Given the description of an element on the screen output the (x, y) to click on. 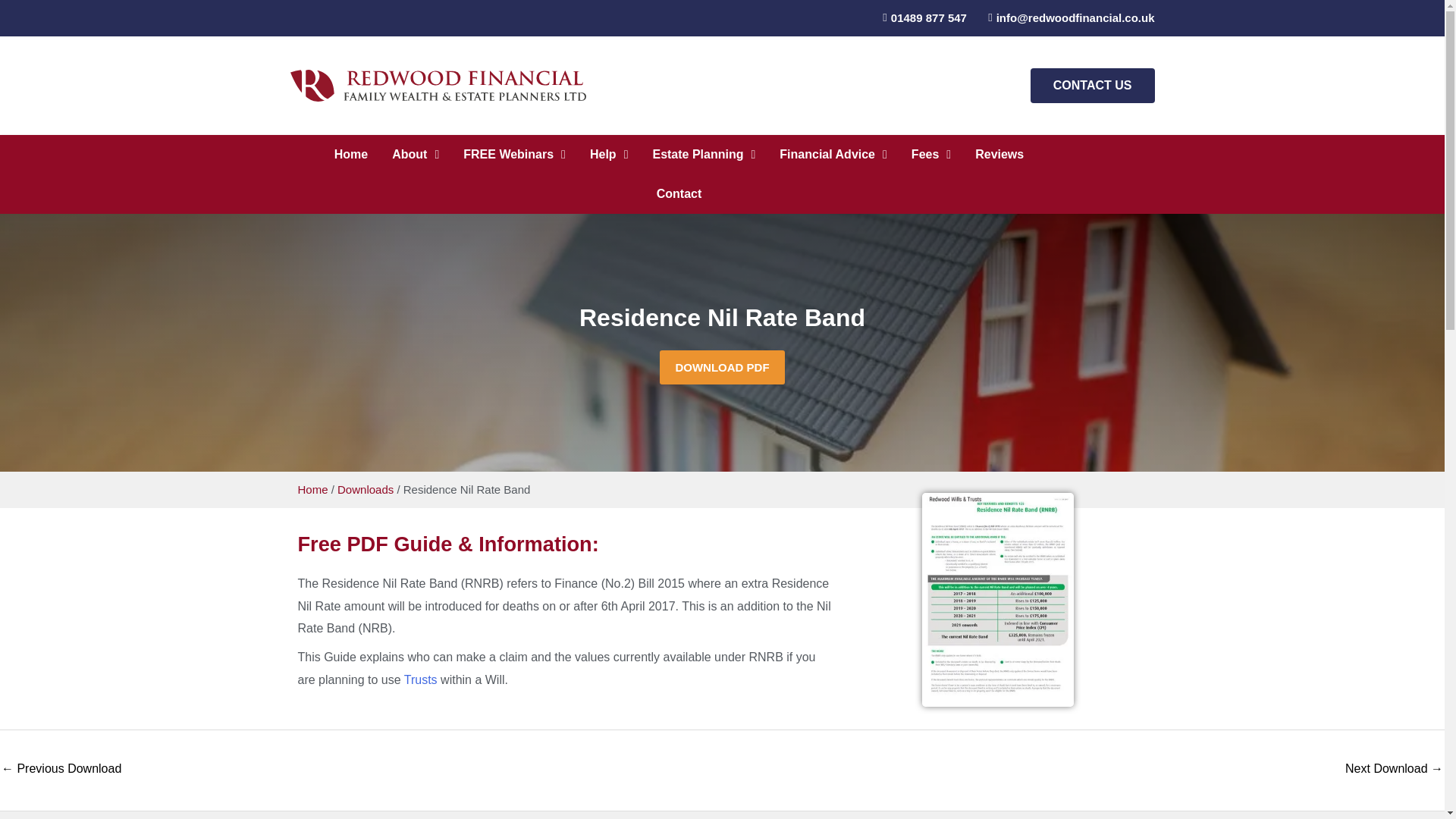
About (415, 154)
Financial Advice (833, 154)
HMRC Limiting Liabilities On Death (1393, 769)
Business Enduring Powers of Attorney (60, 769)
01489 877 547 (919, 17)
CONTACT US (1092, 85)
Estate Planning (703, 154)
Help (609, 154)
Home (350, 154)
Fees (930, 154)
FREE Webinars (514, 154)
Reviews (998, 154)
